Given the description of an element on the screen output the (x, y) to click on. 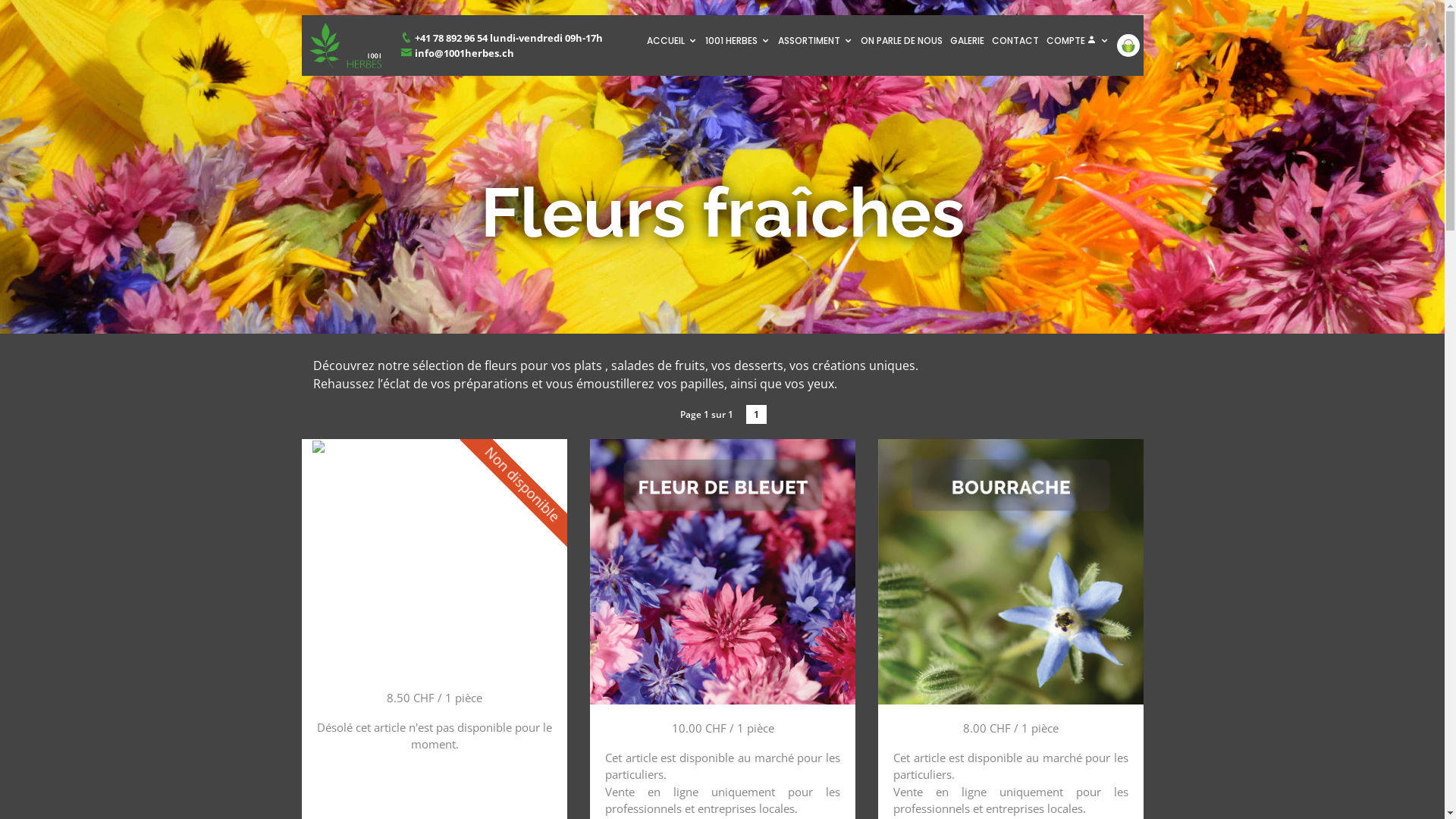
ON PARLE DE NOUS Element type: text (901, 40)
CONTACT Element type: text (1014, 40)
COMPTE Element type: text (1076, 40)
ASSORTIMENT Element type: text (814, 40)
1001 HERBES Element type: text (736, 40)
info@1001herbes.ch Element type: text (457, 52)
GALERIE Element type: text (967, 40)
ACCUEIL Element type: text (672, 40)
+41 78 892 96 54 lundi-vendredi 09h-17h Element type: text (501, 37)
